Given the description of an element on the screen output the (x, y) to click on. 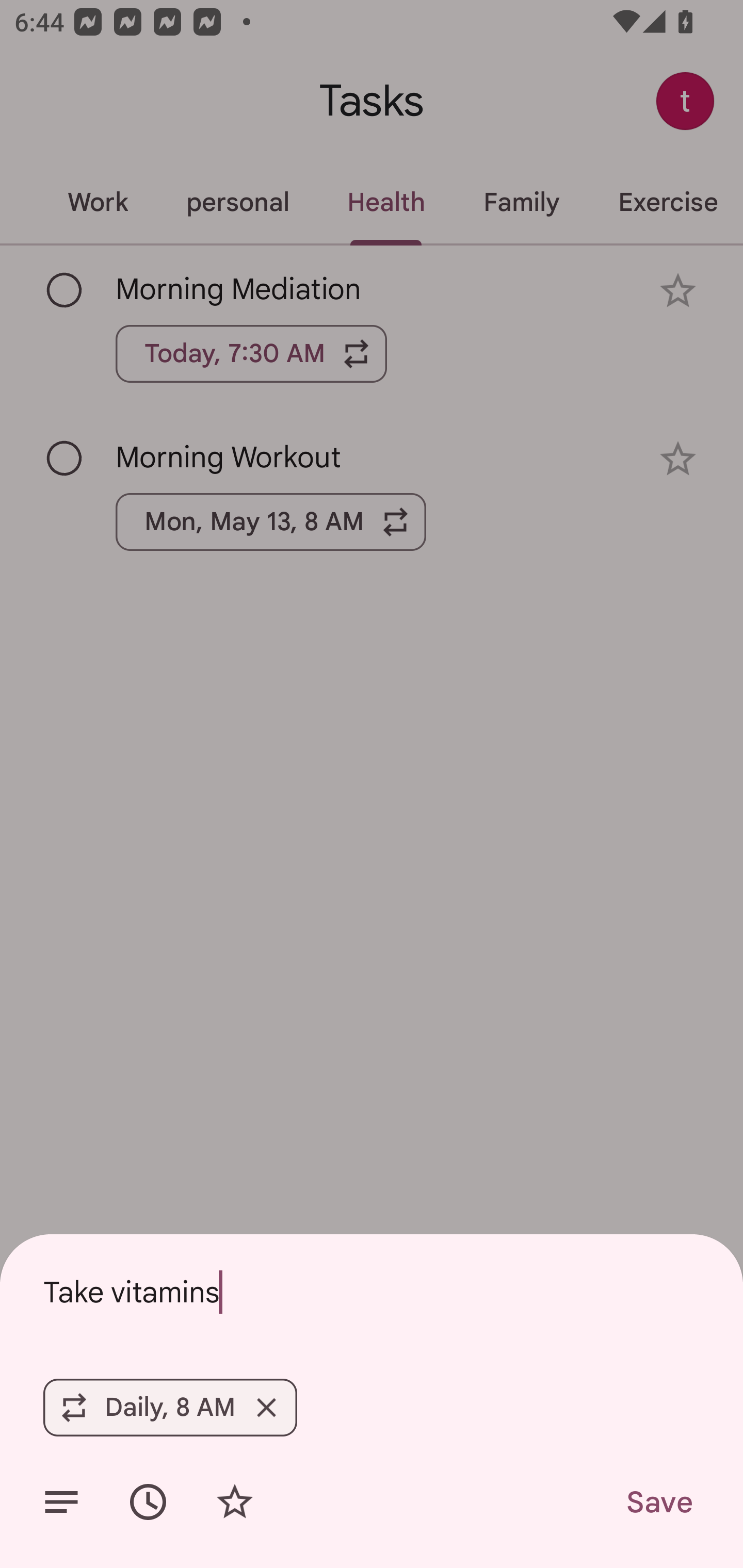
Take vitamins (371, 1291)
Daily, 8 AM Remove Daily, 8 AM (170, 1407)
Save (659, 1501)
Add details (60, 1501)
Set date/time (147, 1501)
Add star (234, 1501)
